Given the description of an element on the screen output the (x, y) to click on. 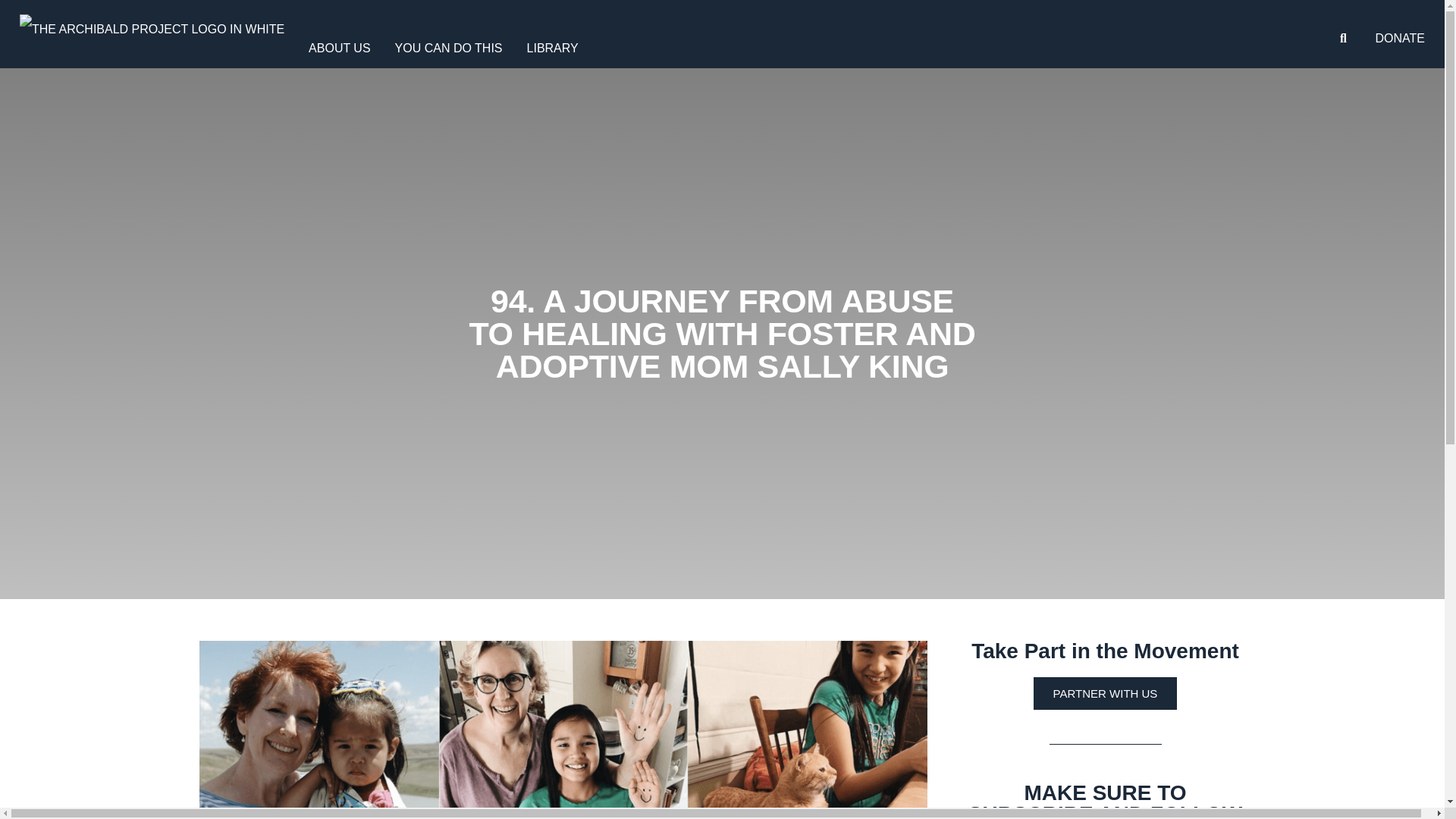
ABOUT US (339, 47)
LIBRARY (553, 47)
YOU CAN DO THIS (448, 47)
